Given the description of an element on the screen output the (x, y) to click on. 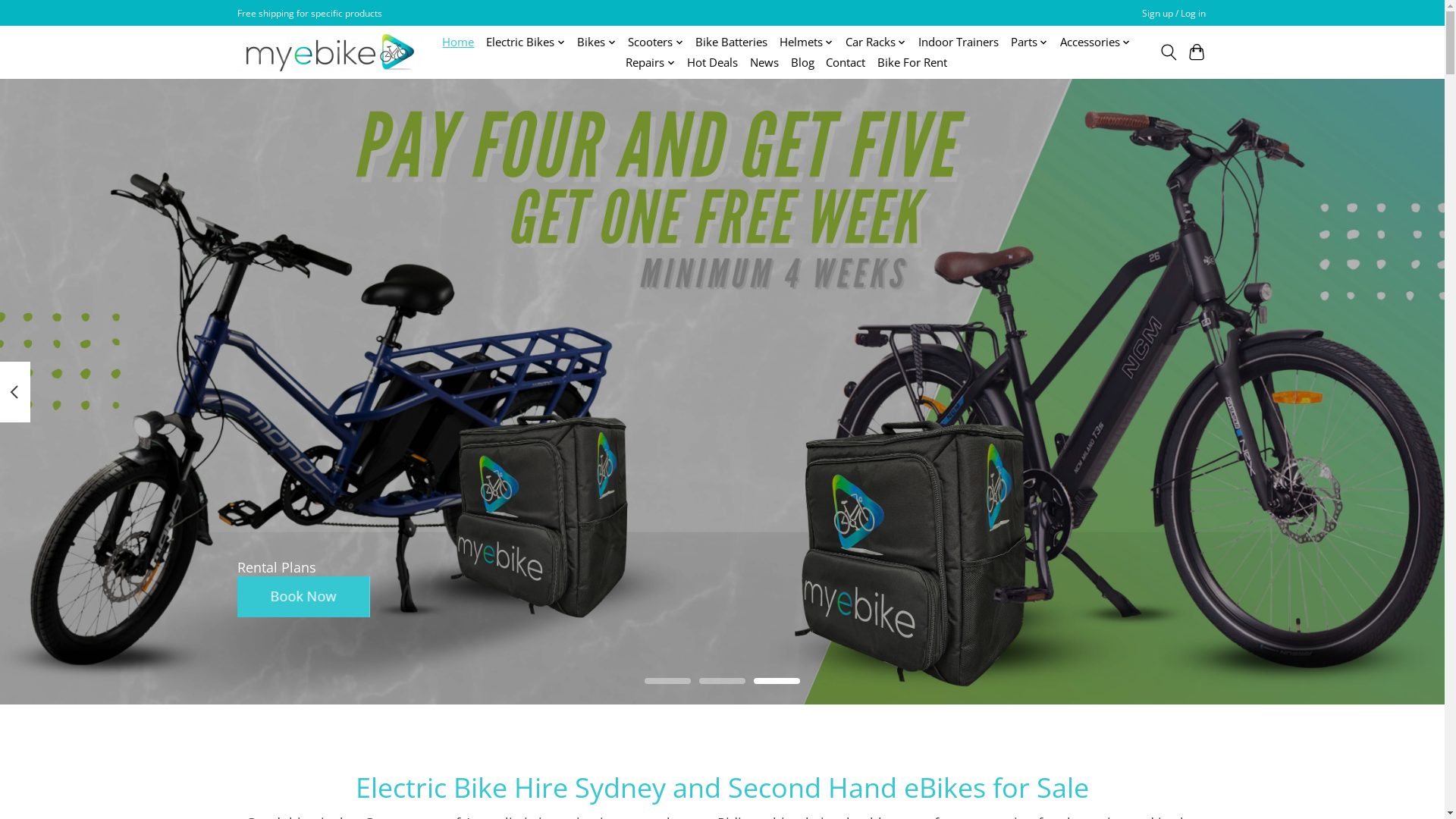
Sign up / Log in Element type: text (1173, 12)
Helmets Element type: text (806, 41)
Electric Bikes Element type: text (525, 41)
Repairs Element type: text (650, 62)
Blog Element type: text (802, 62)
Parts Element type: text (1029, 41)
MyeBike Sydney Element type: hover (329, 52)
Scooters Element type: text (655, 41)
Indoor Trainers Element type: text (958, 41)
Bike For Rent Element type: text (912, 62)
Book Now Element type: text (302, 596)
Home Element type: text (457, 41)
Bikes Element type: text (596, 41)
Accessories Element type: text (1094, 41)
News Element type: text (764, 62)
Bike Batteries Element type: text (731, 41)
Car Racks Element type: text (875, 41)
Hot Deals Element type: text (712, 62)
Contact Element type: text (845, 62)
